Given the description of an element on the screen output the (x, y) to click on. 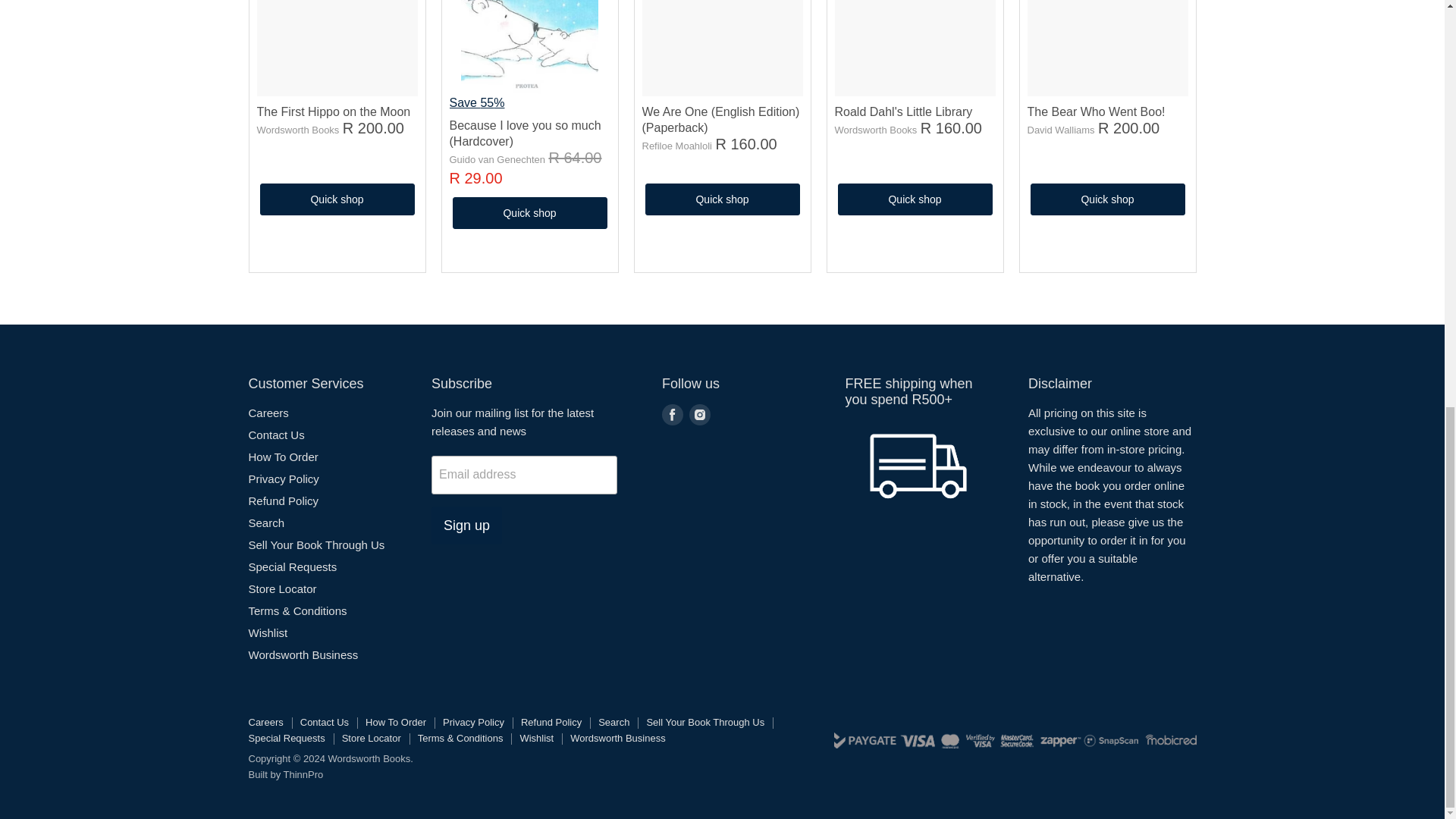
Facebook (672, 414)
Refiloe Moahloli (676, 145)
Wordsworth Books (297, 129)
Wordsworth Books (875, 129)
David Walliams (1060, 129)
Instagram (699, 414)
Guido van Genechten (496, 159)
